Given the description of an element on the screen output the (x, y) to click on. 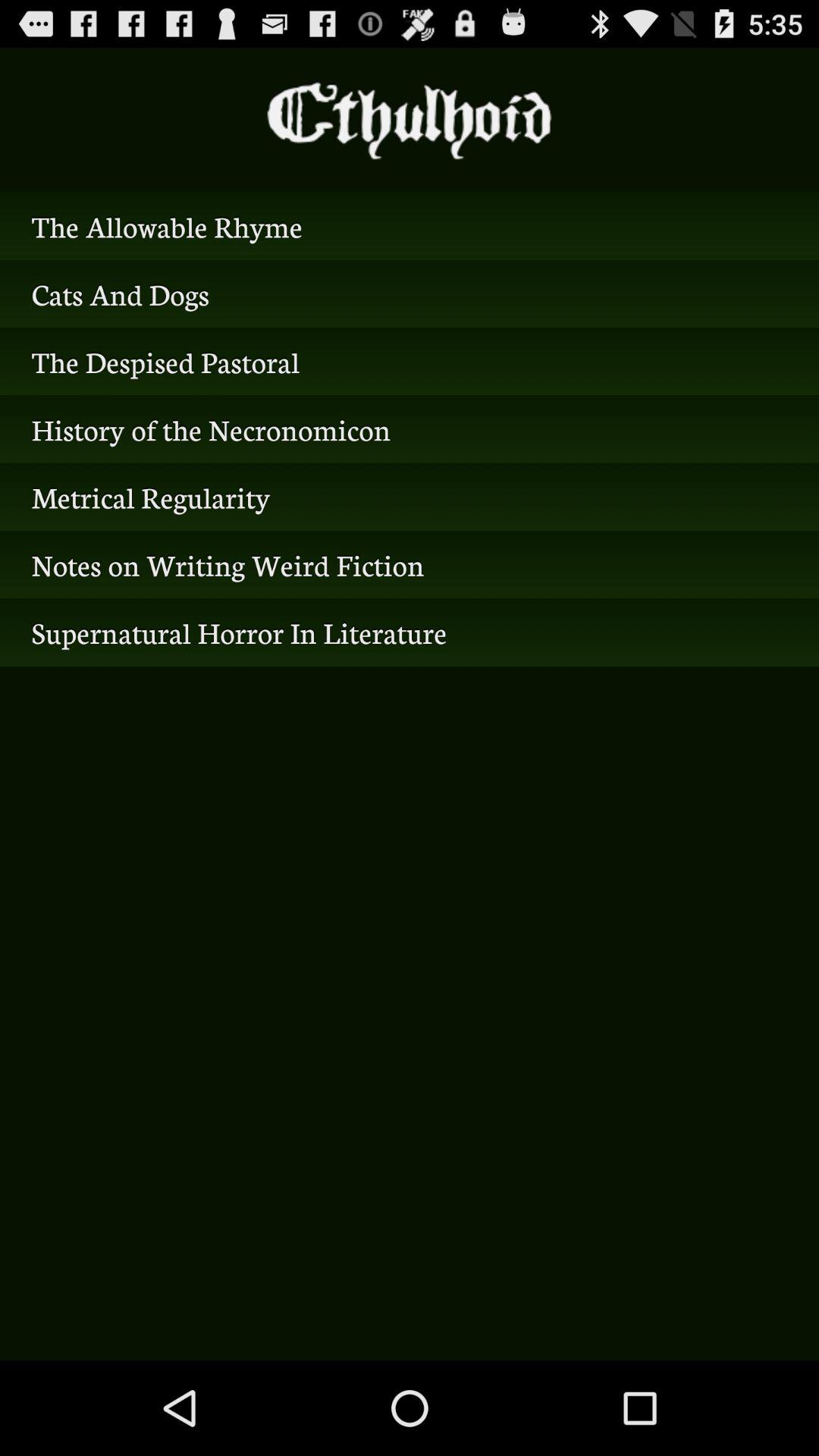
scroll to the the despised pastoral item (409, 361)
